Given the description of an element on the screen output the (x, y) to click on. 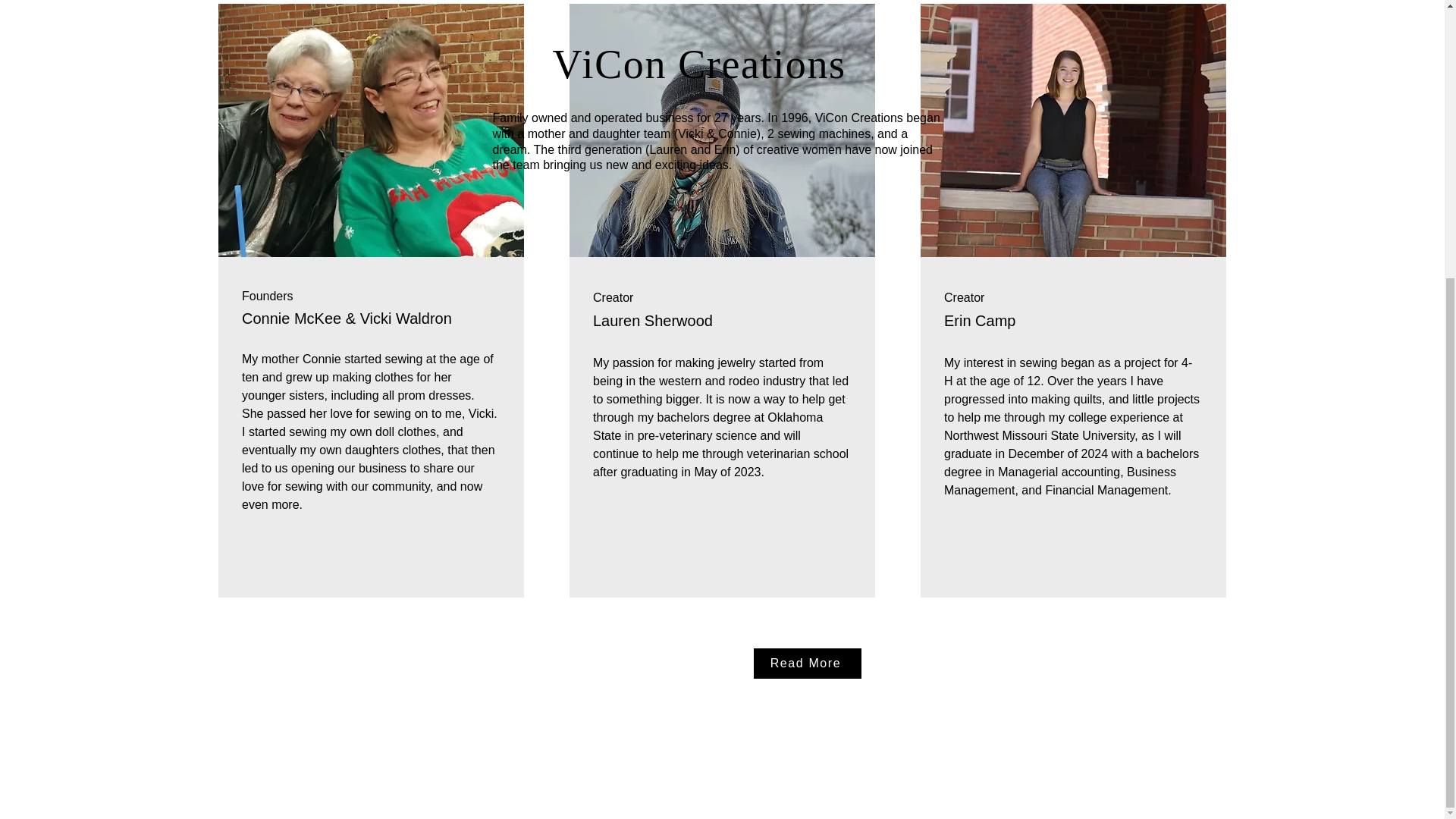
Read More (807, 663)
